Given the description of an element on the screen output the (x, y) to click on. 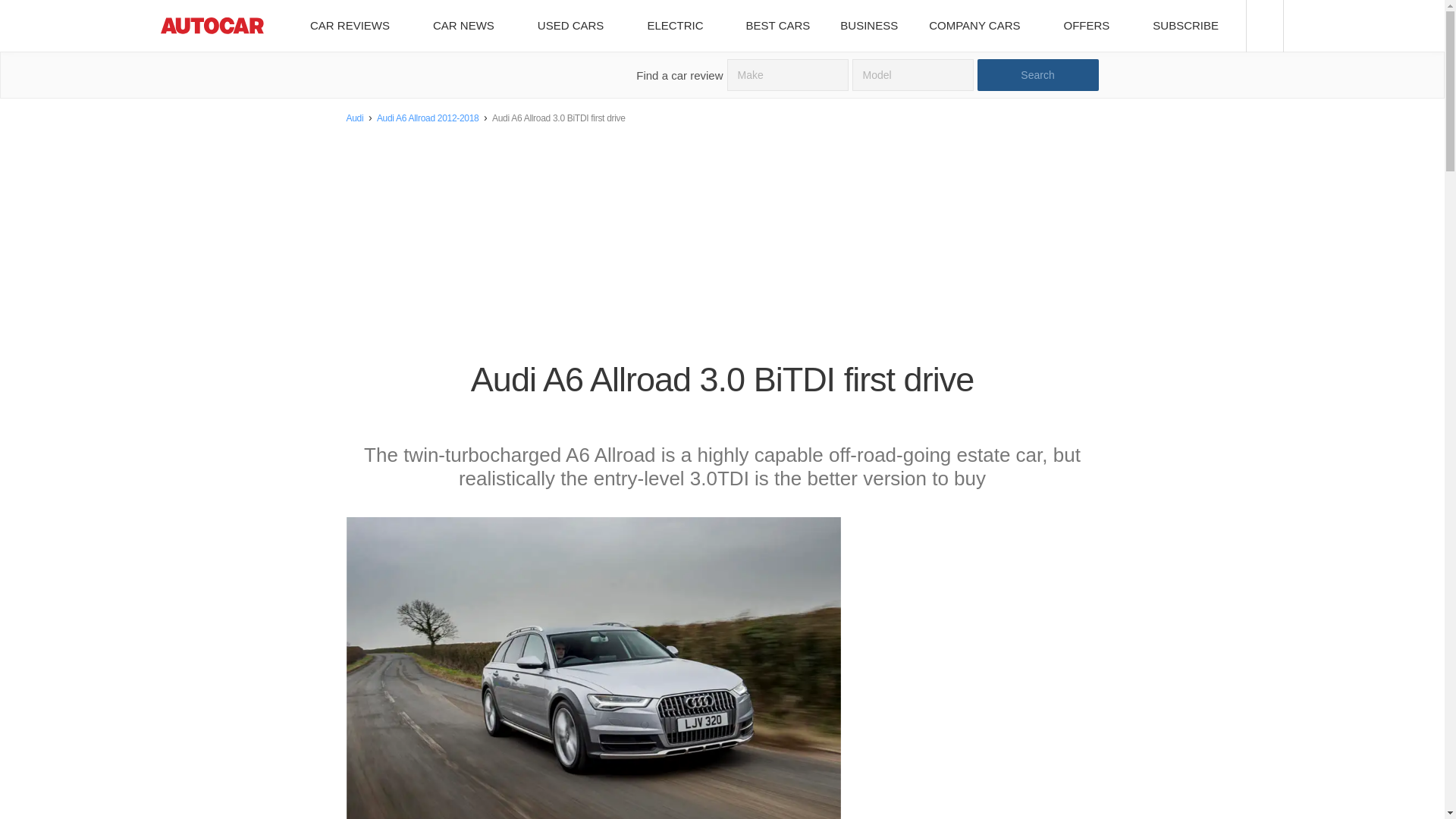
OFFERS (1091, 26)
BEST CARS (777, 26)
ELECTRIC (680, 26)
CAR REVIEWS (355, 26)
Autocar Electric (680, 26)
Search (1036, 74)
BUSINESS (868, 26)
Search (1036, 74)
USED CARS (576, 26)
SUBSCRIBE (1191, 26)
CAR NEWS (468, 26)
COMPANY CARS (979, 26)
Top 10 cars by segment (777, 26)
Autocar Business news, insight and opinion (868, 26)
Home (211, 25)
